Given the description of an element on the screen output the (x, y) to click on. 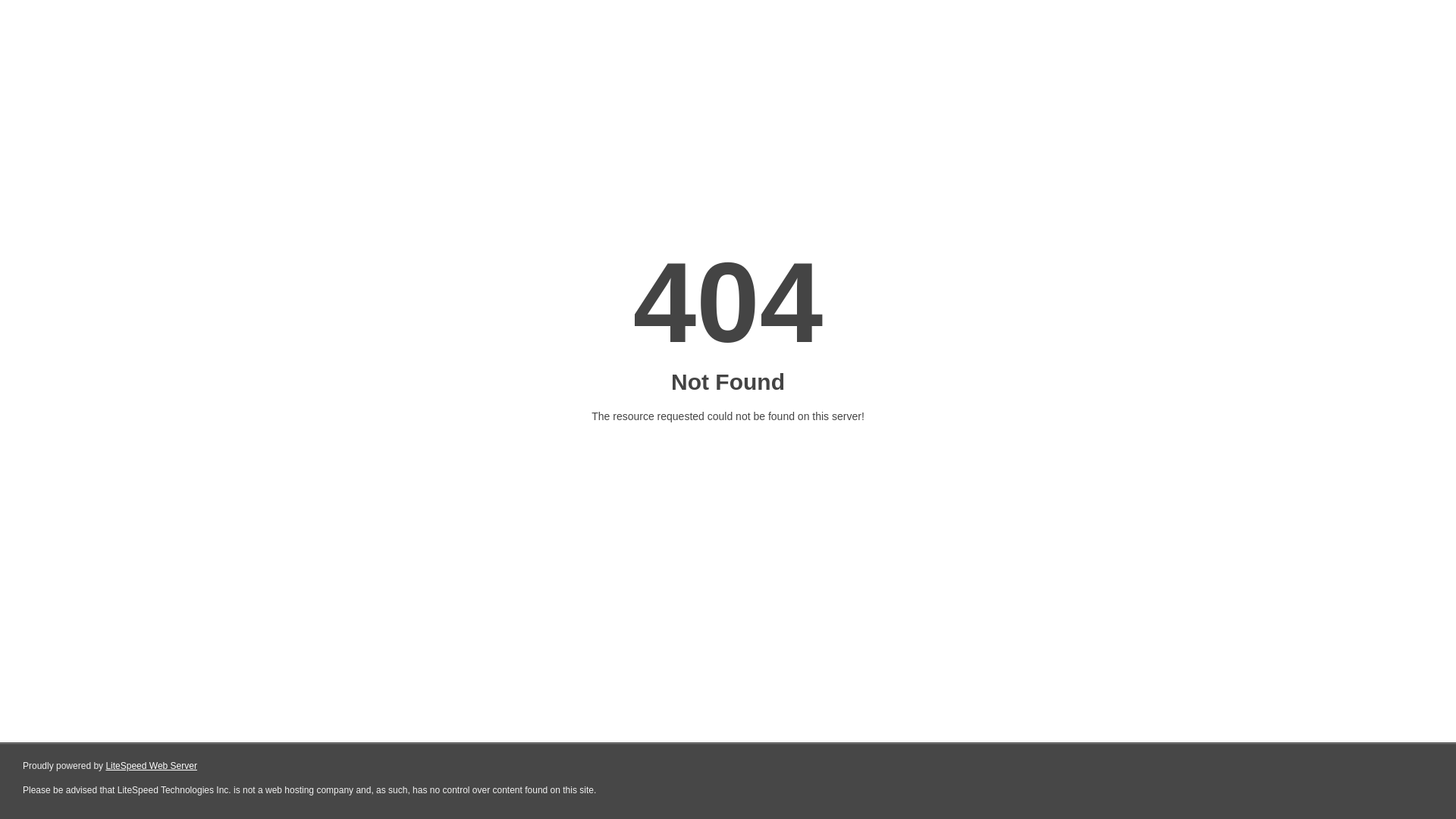
LiteSpeed Web Server Element type: text (151, 765)
